Given the description of an element on the screen output the (x, y) to click on. 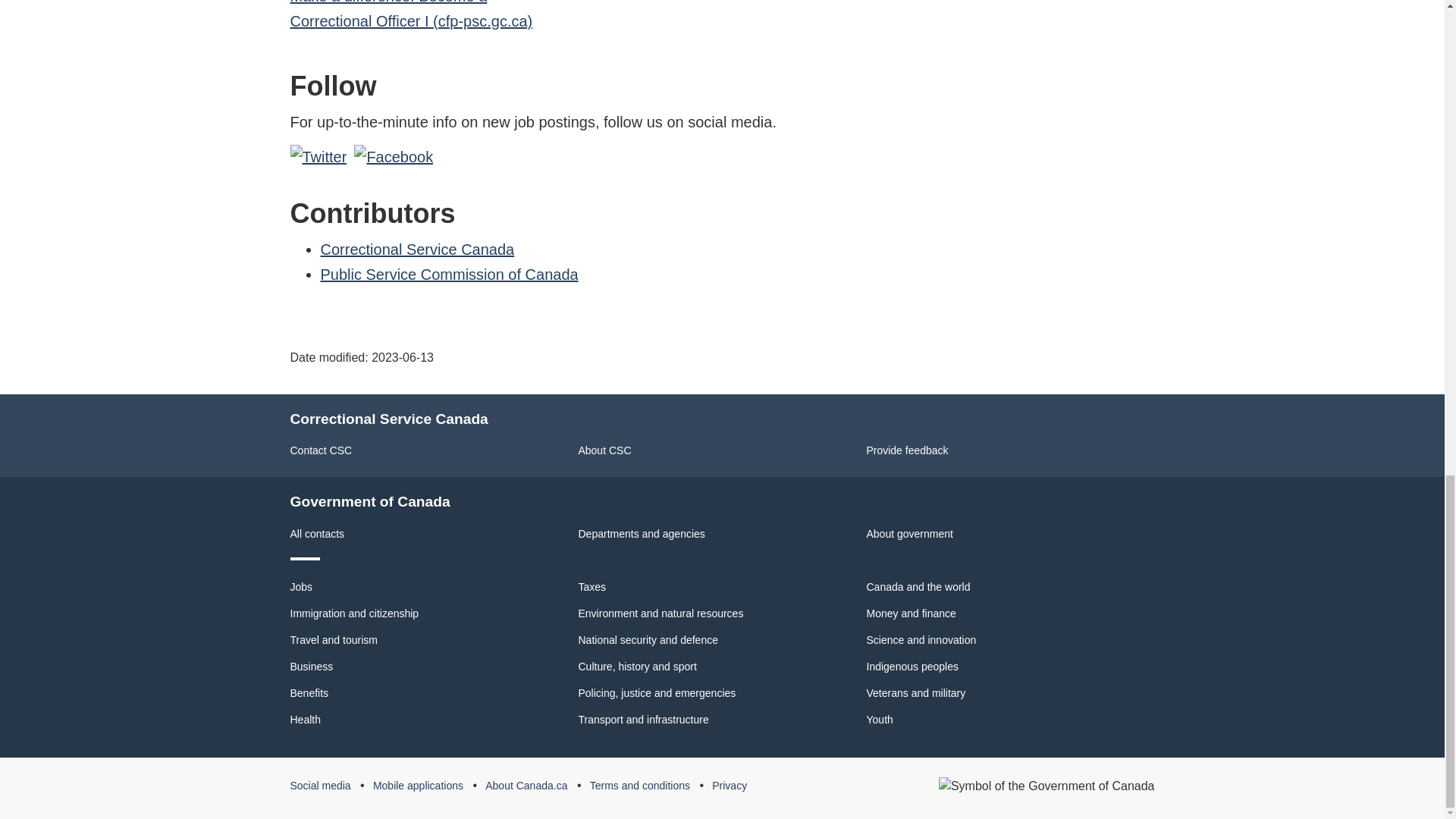
Twitter (317, 156)
Correctional Service Canada (416, 248)
Facebook (392, 156)
